Given the description of an element on the screen output the (x, y) to click on. 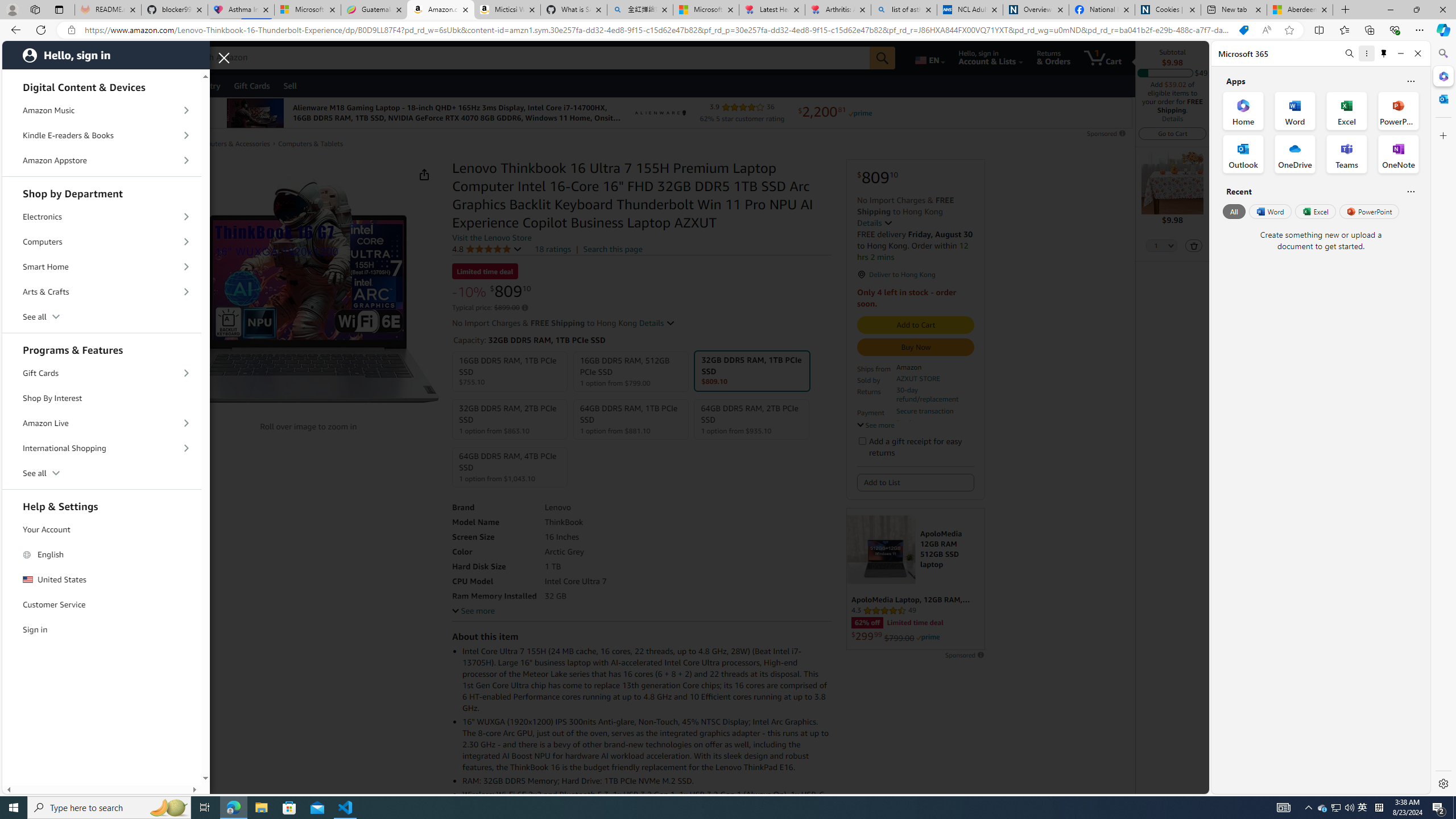
Electronics (101, 217)
Open Menu (26, 86)
Gift Cards (101, 372)
Add to Cart (915, 324)
Home Office App (1243, 110)
Quantity Selector (1161, 246)
Help & Settings (101, 504)
